Given the description of an element on the screen output the (x, y) to click on. 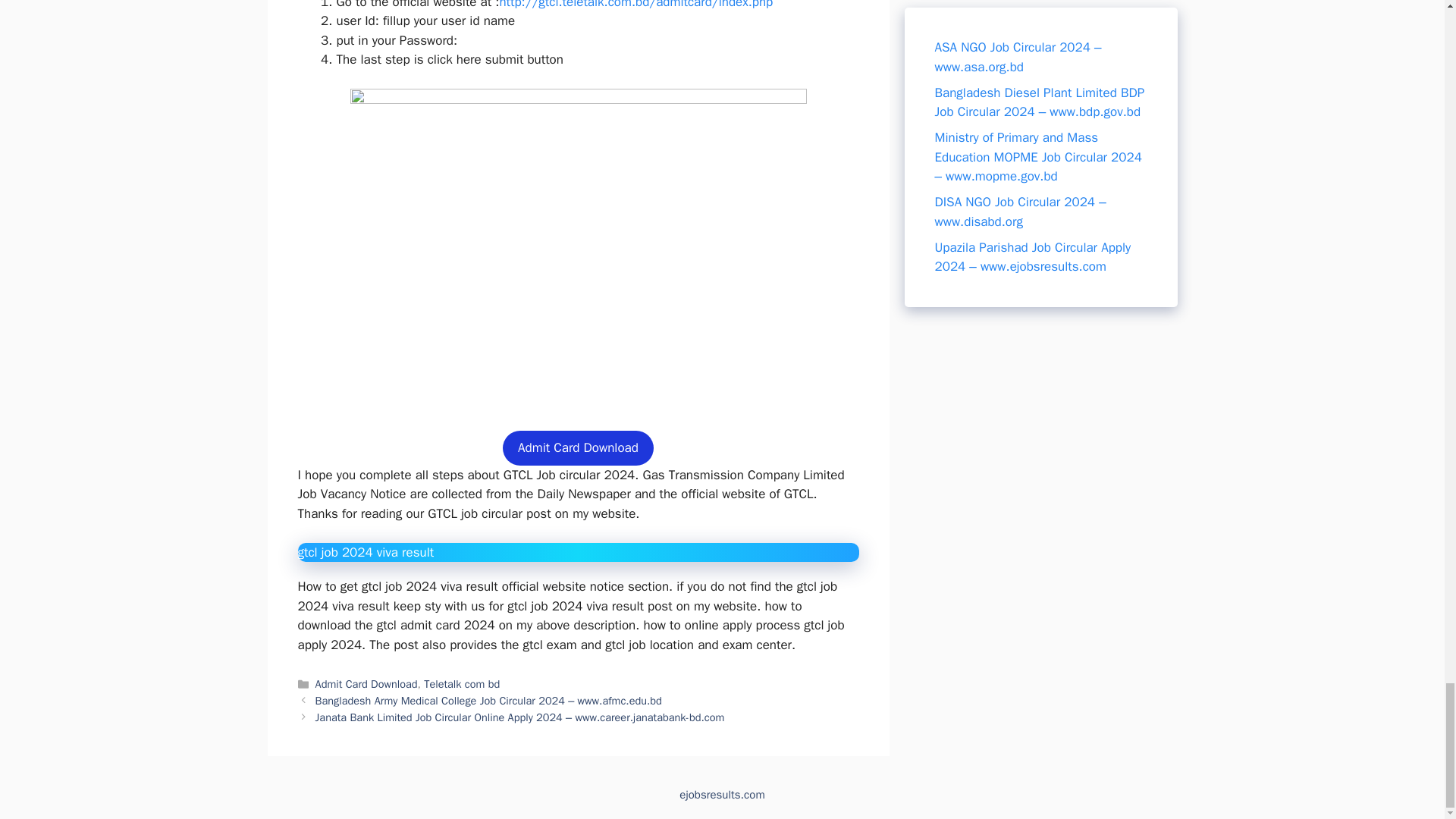
Admit Card Download (366, 684)
Teletalk com bd (461, 684)
Admit Card Download (577, 448)
